Given the description of an element on the screen output the (x, y) to click on. 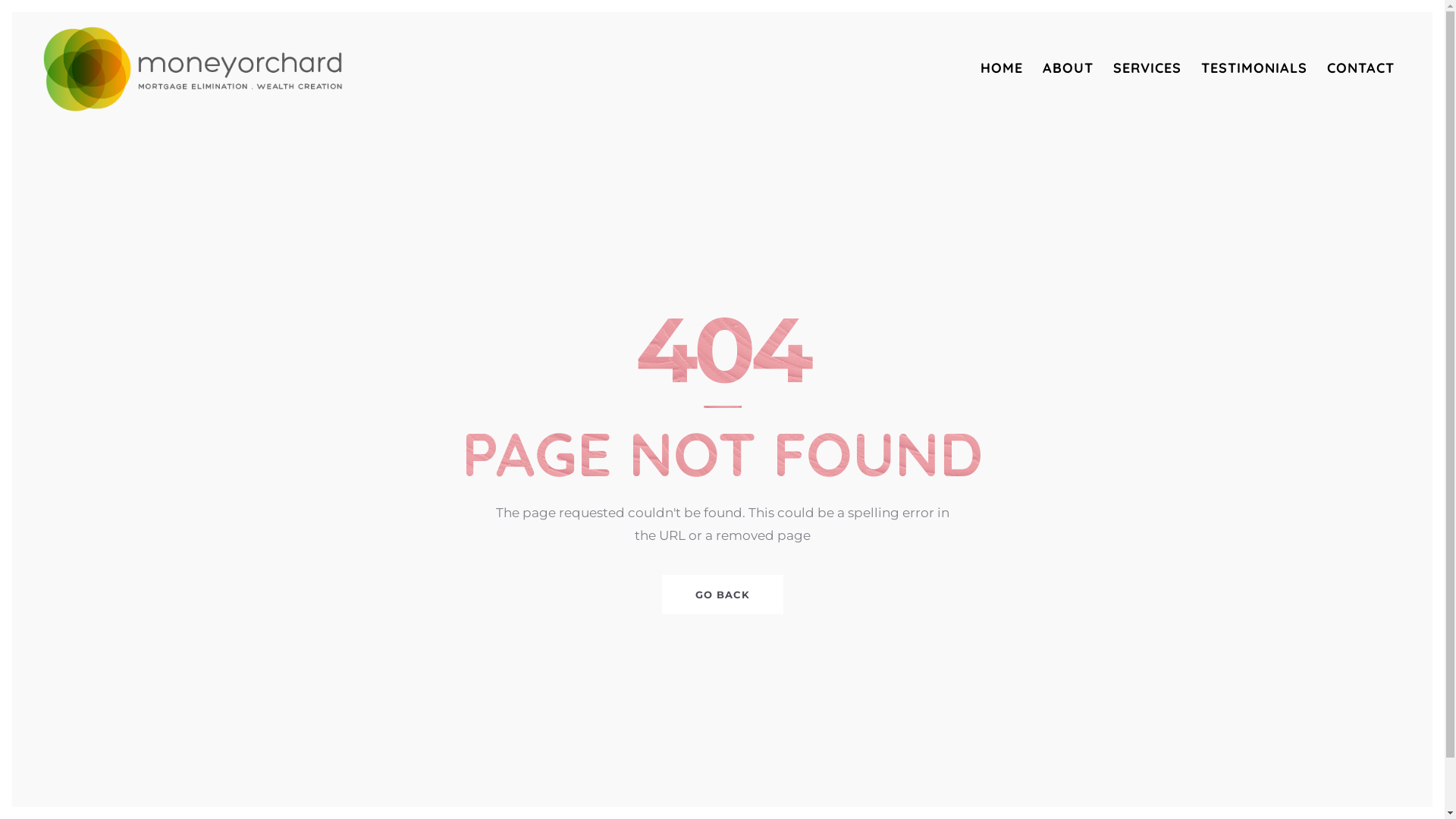
TESTIMONIALS Element type: text (1254, 68)
GO BACK Element type: text (721, 594)
CONTACT Element type: text (1360, 68)
SERVICES Element type: text (1147, 68)
Login Element type: text (758, 725)
U Element type: text (1192, 402)
Disclaimer Element type: text (809, 725)
HOME Element type: text (1001, 68)
ABOUT Element type: text (1067, 68)
